Given the description of an element on the screen output the (x, y) to click on. 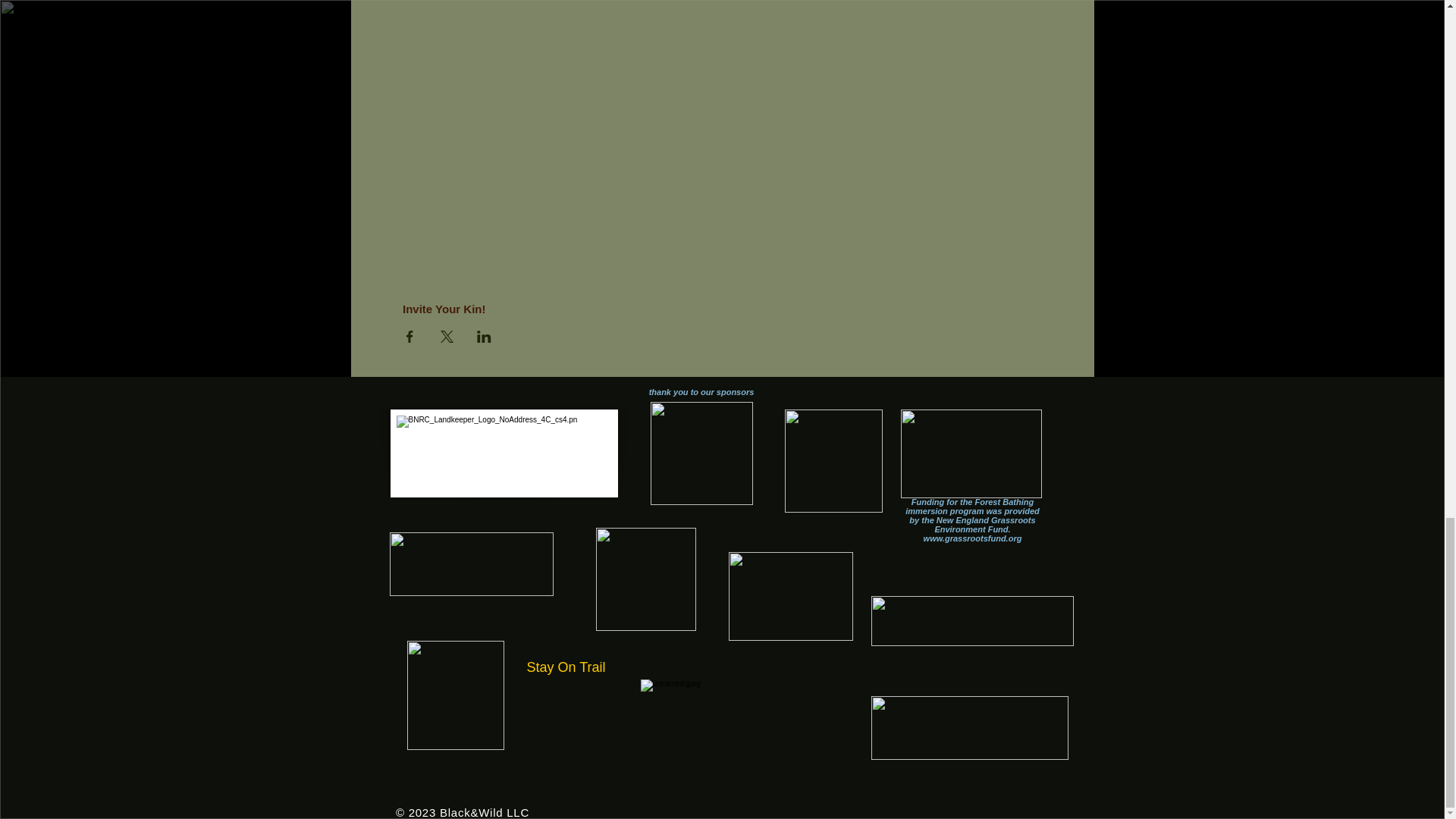
www.grassrootsfund.org (972, 537)
